Given the description of an element on the screen output the (x, y) to click on. 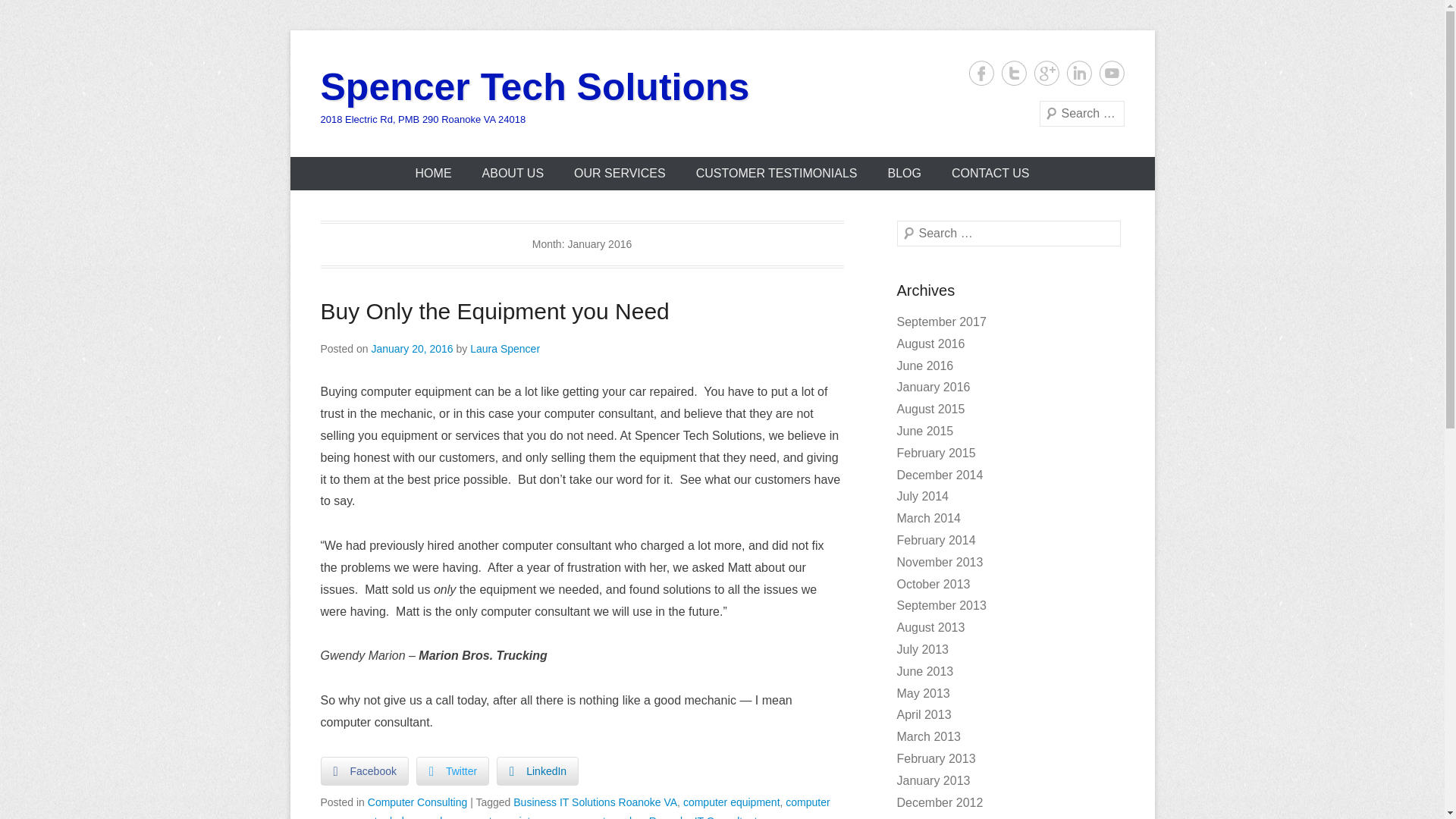
August 2016 (929, 343)
Twitter (452, 770)
January 20, 2016 (411, 348)
CONTACT US (990, 173)
September 2017 (940, 321)
LinkedIn (537, 770)
Spencer Tech Solutions (534, 87)
computer equipment (731, 802)
Facebook (981, 72)
Computer Consulting (417, 802)
BLOG (904, 173)
computer help roanoke (396, 816)
View all posts by Laura Spencer (505, 348)
Buy Only the Equipment you Need (494, 310)
YouTube (1111, 72)
